Given the description of an element on the screen output the (x, y) to click on. 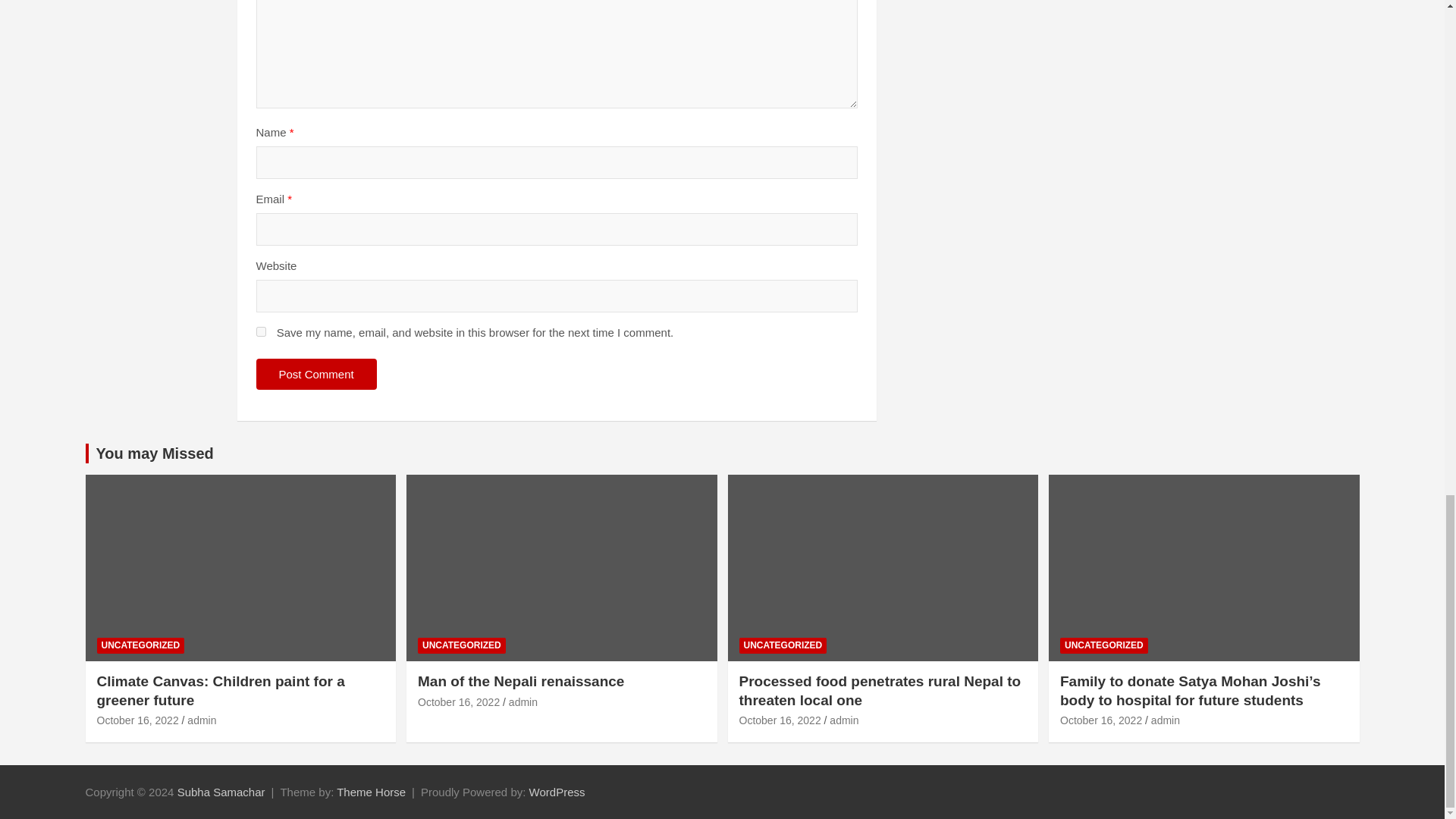
UNCATEGORIZED (461, 645)
admin (201, 720)
admin (844, 720)
Climate Canvas: Children paint for a greener future (138, 720)
yes (261, 331)
Man of the Nepali renaissance (520, 681)
UNCATEGORIZED (1103, 645)
admin (522, 702)
UNCATEGORIZED (782, 645)
Post Comment (316, 373)
You may Missed (154, 453)
October 16, 2022 (779, 720)
UNCATEGORIZED (140, 645)
Theme Horse (371, 791)
WordPress (557, 791)
